Given the description of an element on the screen output the (x, y) to click on. 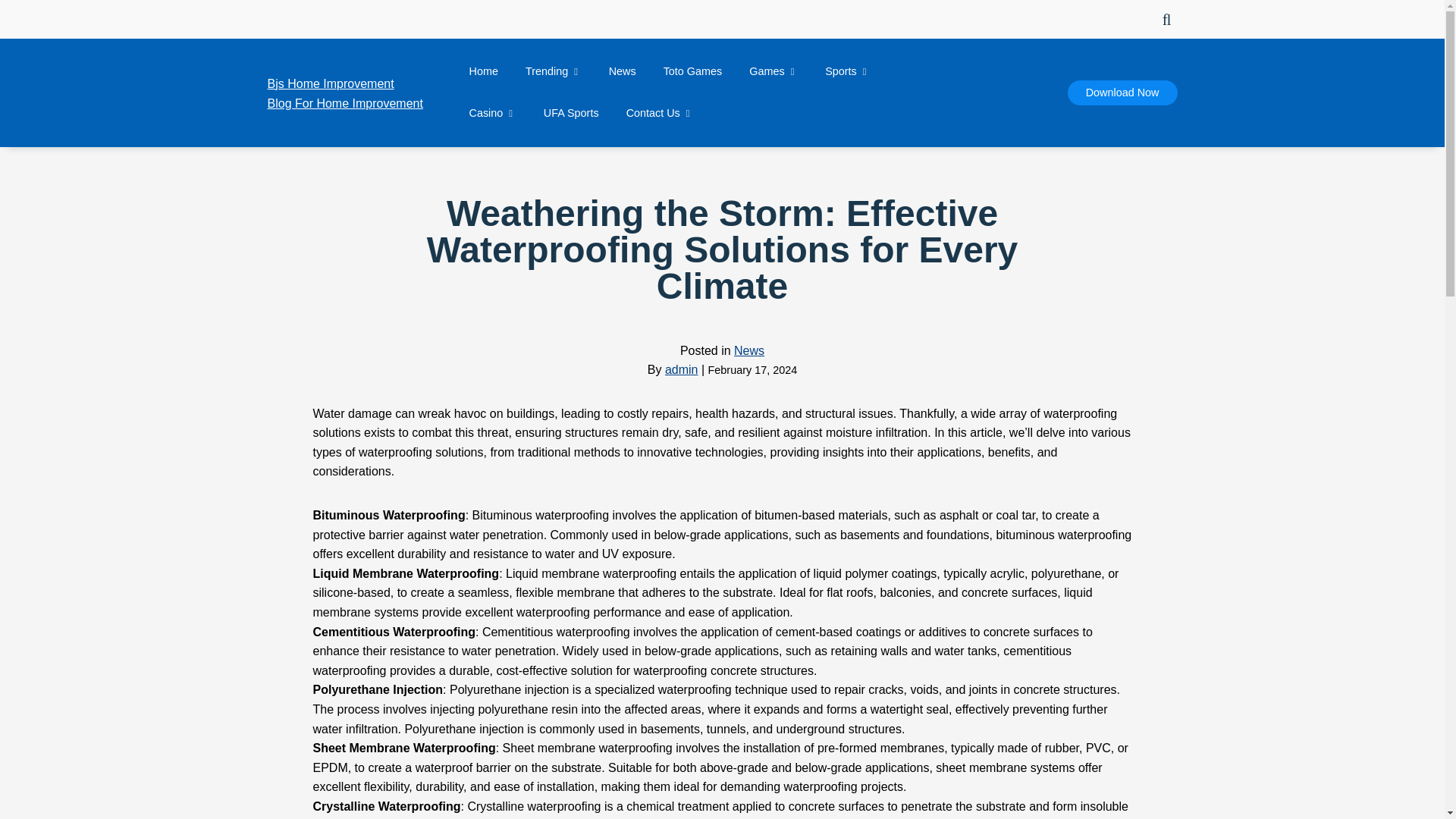
Home (492, 113)
UFA Sports (483, 71)
Download Now (571, 113)
Bjs Home Improvement (1122, 92)
Download Now (553, 71)
News (772, 71)
Blog For Home Improvement (329, 84)
Toto Games (1122, 92)
